Given the description of an element on the screen output the (x, y) to click on. 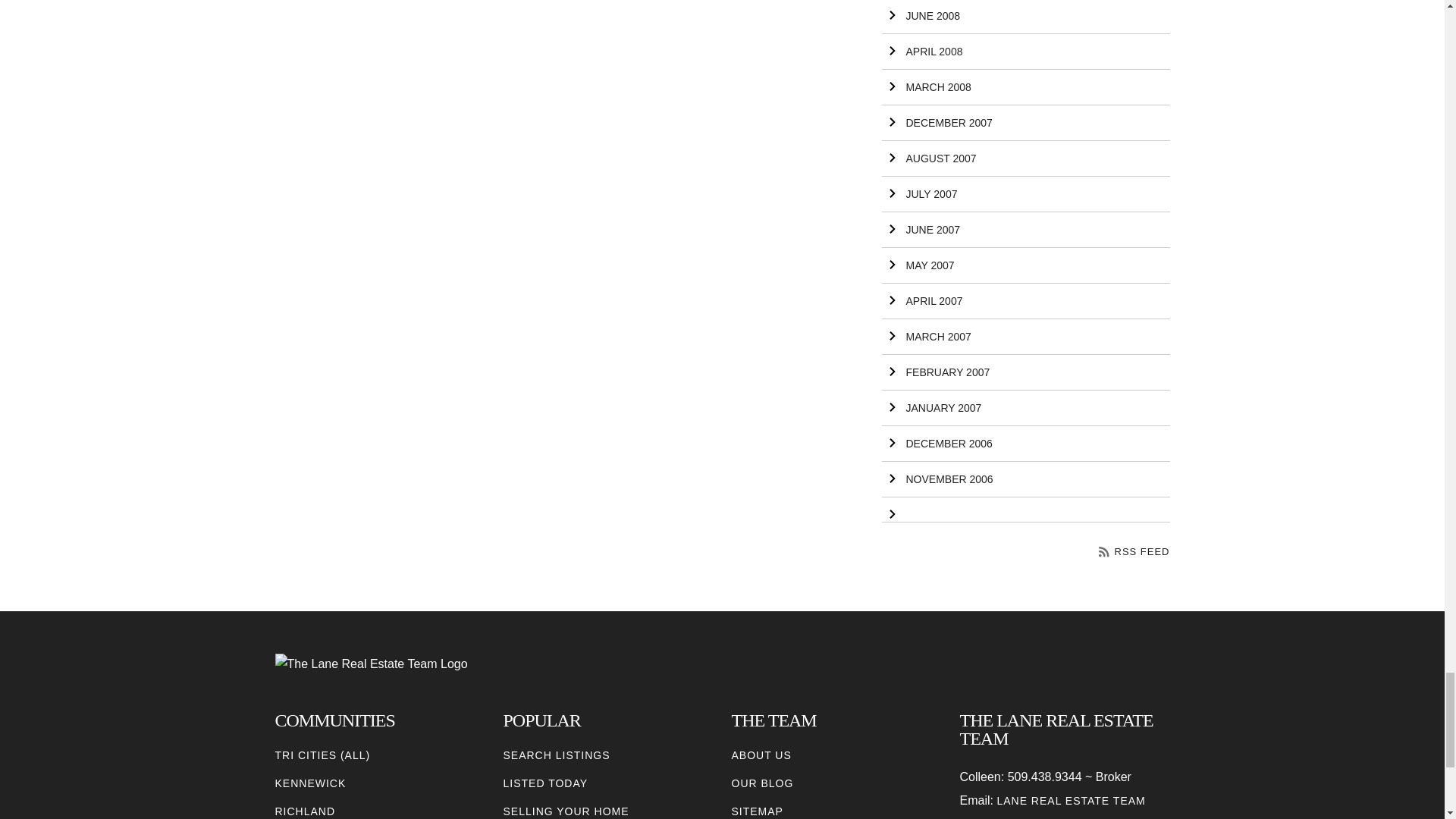
RSS FEED (1134, 551)
